Given the description of an element on the screen output the (x, y) to click on. 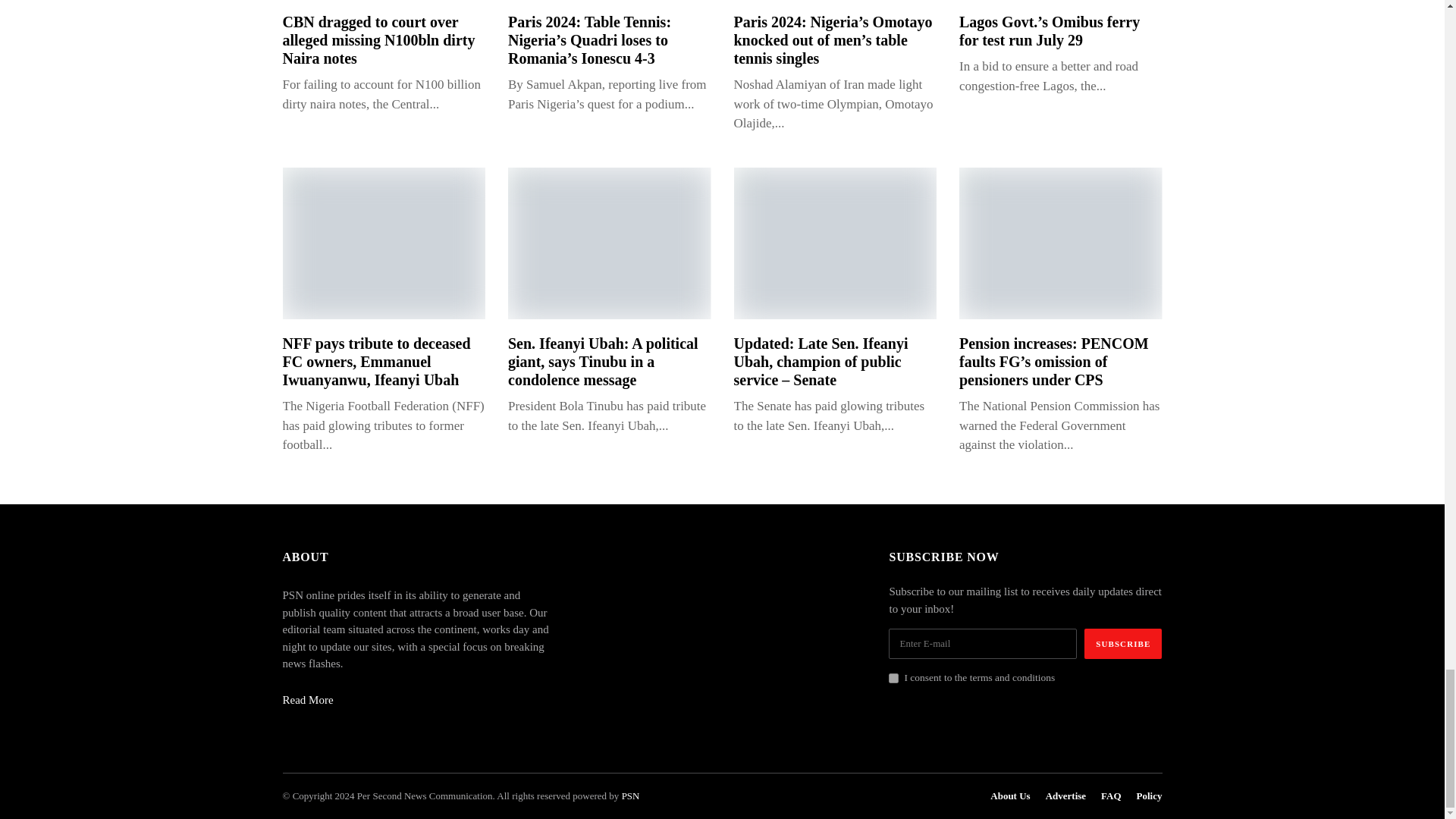
1 (893, 678)
Subscribe (1122, 643)
